Given the description of an element on the screen output the (x, y) to click on. 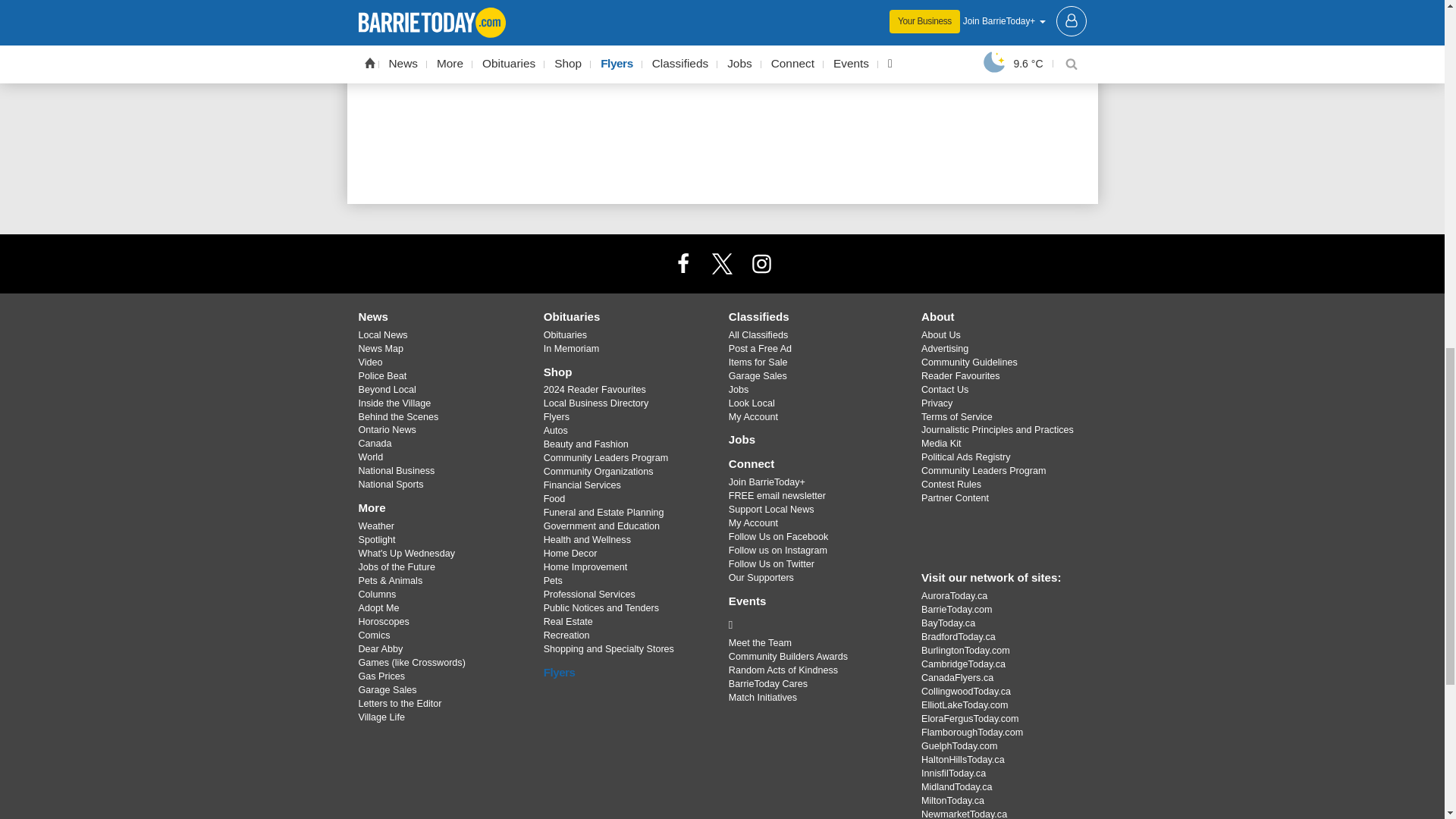
BarrieToday Cares (813, 624)
Instagram (760, 262)
Facebook (683, 262)
X (721, 262)
